Given the description of an element on the screen output the (x, y) to click on. 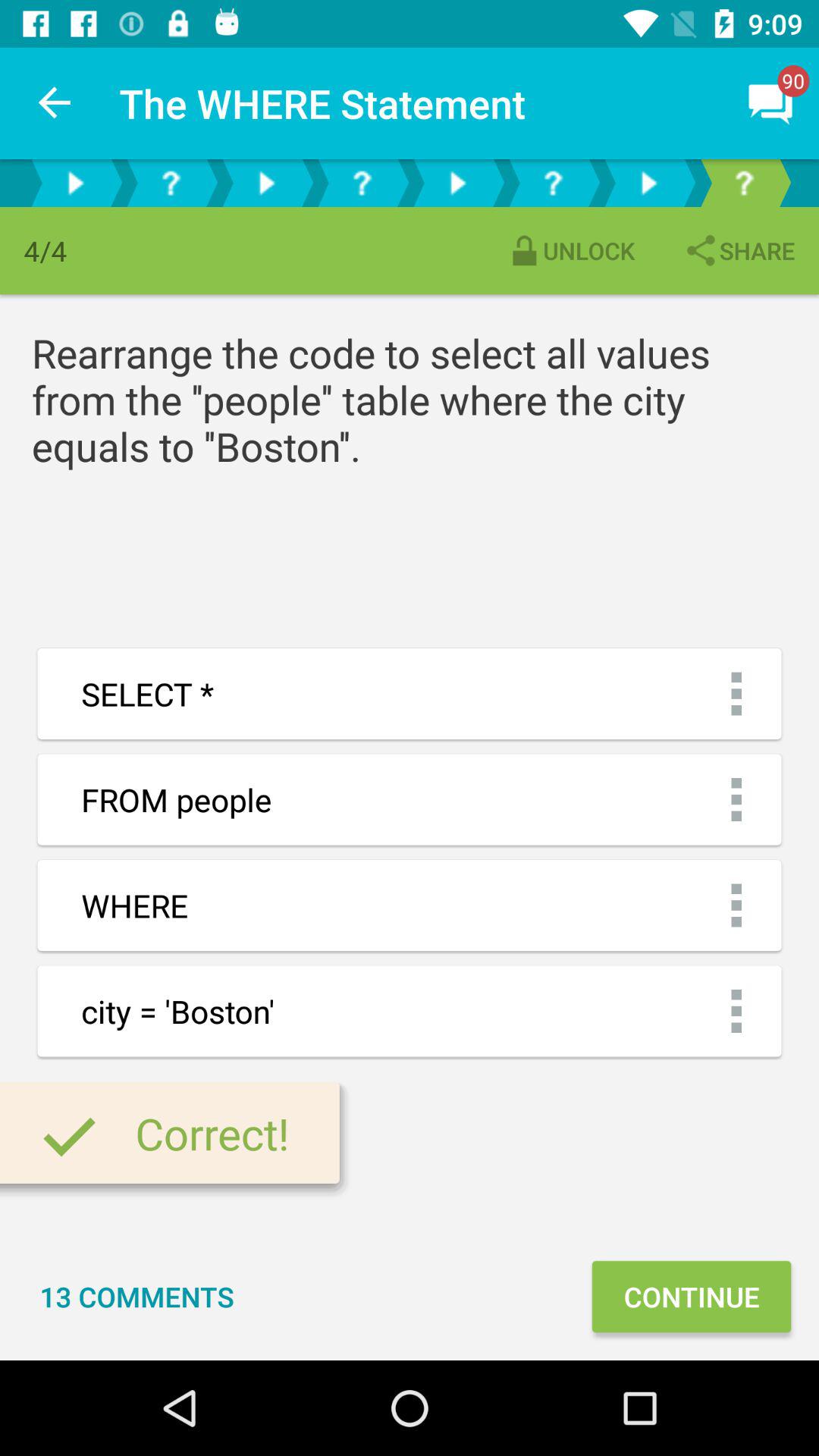
press item next to the the where statement icon (55, 103)
